Given the description of an element on the screen output the (x, y) to click on. 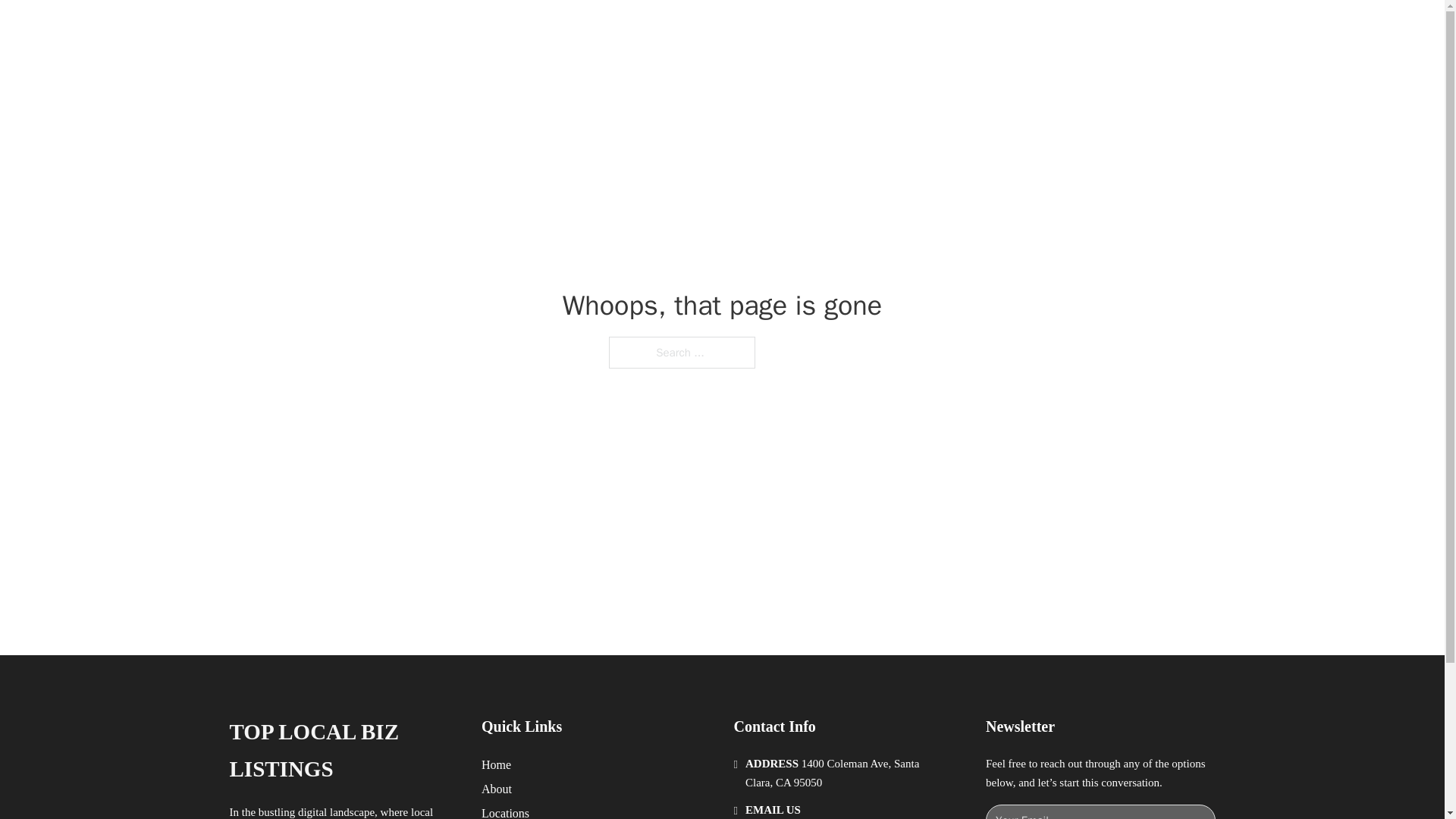
TOP LOCAL BIZ LISTINGS (343, 750)
TOP LOCAL BIZ LISTINGS (432, 28)
About (496, 788)
Locations (505, 811)
Home (496, 764)
